Given the description of an element on the screen output the (x, y) to click on. 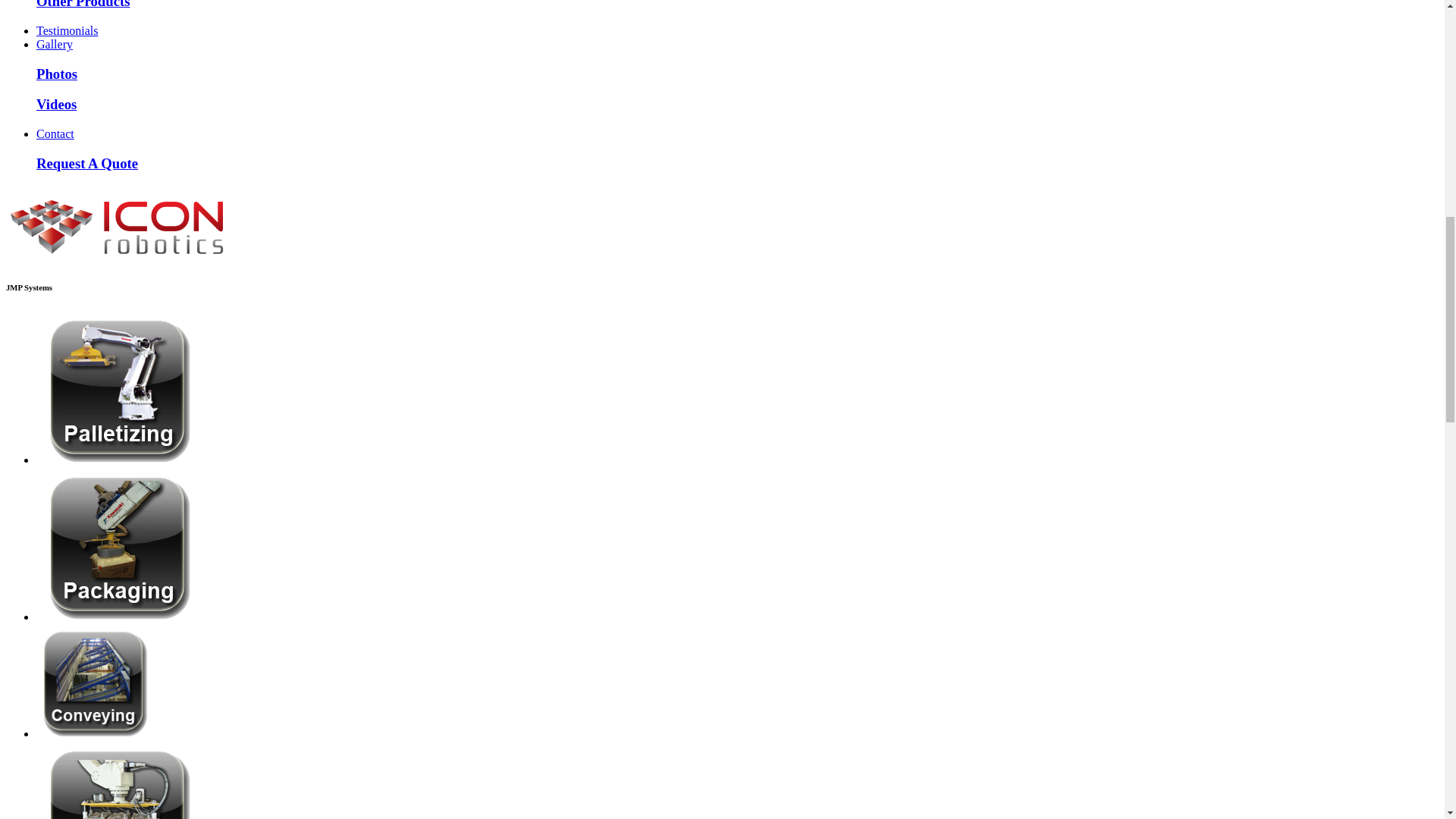
Testimonials (67, 30)
Other Products (82, 4)
Contact (55, 133)
Gallery (54, 43)
Videos (56, 104)
Request A Quote (87, 163)
Photos (56, 73)
